Given the description of an element on the screen output the (x, y) to click on. 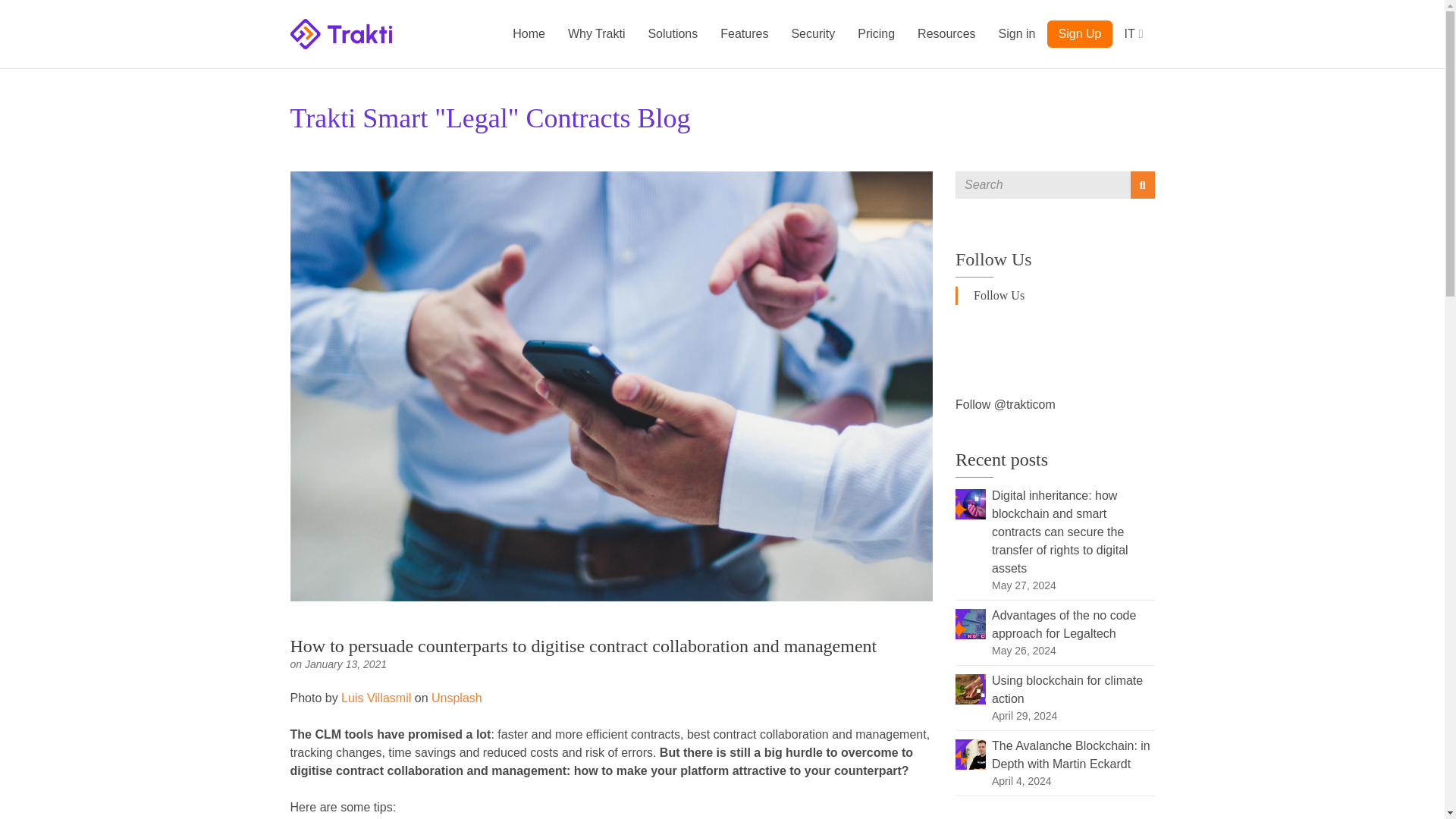
Advantages of the no code approach for Legaltech (970, 622)
Sign Up (1079, 33)
The Avalanche Blockchain: in Depth with Martin Eckardt (970, 753)
The Avalanche Blockchain: in Depth with Martin Eckardt (1070, 754)
Unsplash (455, 697)
Advantages of the no code approach for Legaltech (1063, 624)
Follow Us (993, 259)
Resources (946, 33)
Follow Us (999, 295)
Using blockchain for climate action (1066, 689)
Luis Villasmil (375, 697)
Security (811, 33)
Why Trakti (596, 33)
